Given the description of an element on the screen output the (x, y) to click on. 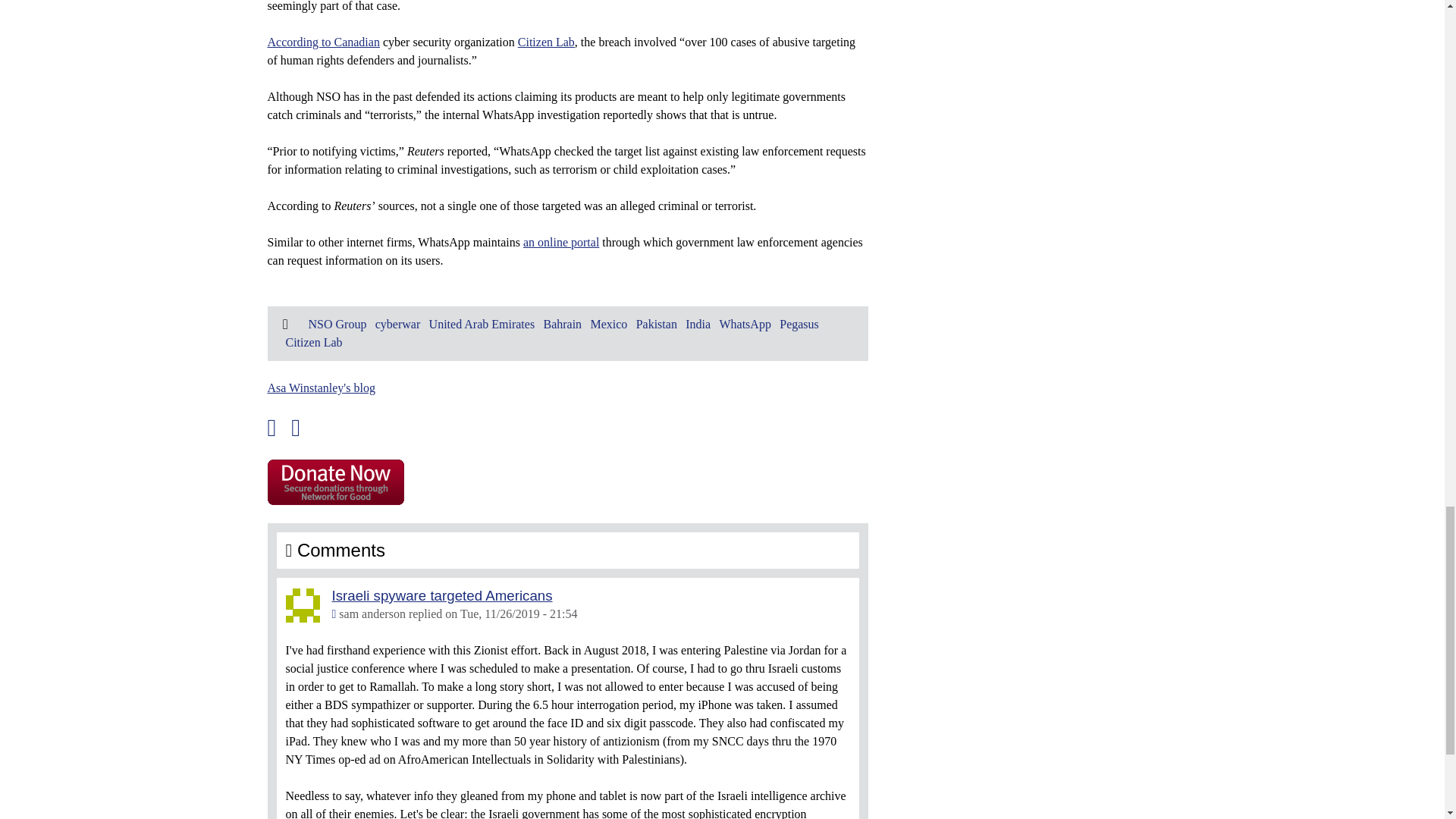
India (697, 323)
Citizen Lab (313, 341)
cyberwar (397, 323)
Citizen Lab (546, 42)
Asa Winstanley's blog (320, 387)
According to Canadian (322, 42)
NSO Group (336, 323)
Read Asa Winstanley's latest blog entries. (320, 387)
Pegasus (798, 323)
United Arab Emirates (482, 323)
